Given the description of an element on the screen output the (x, y) to click on. 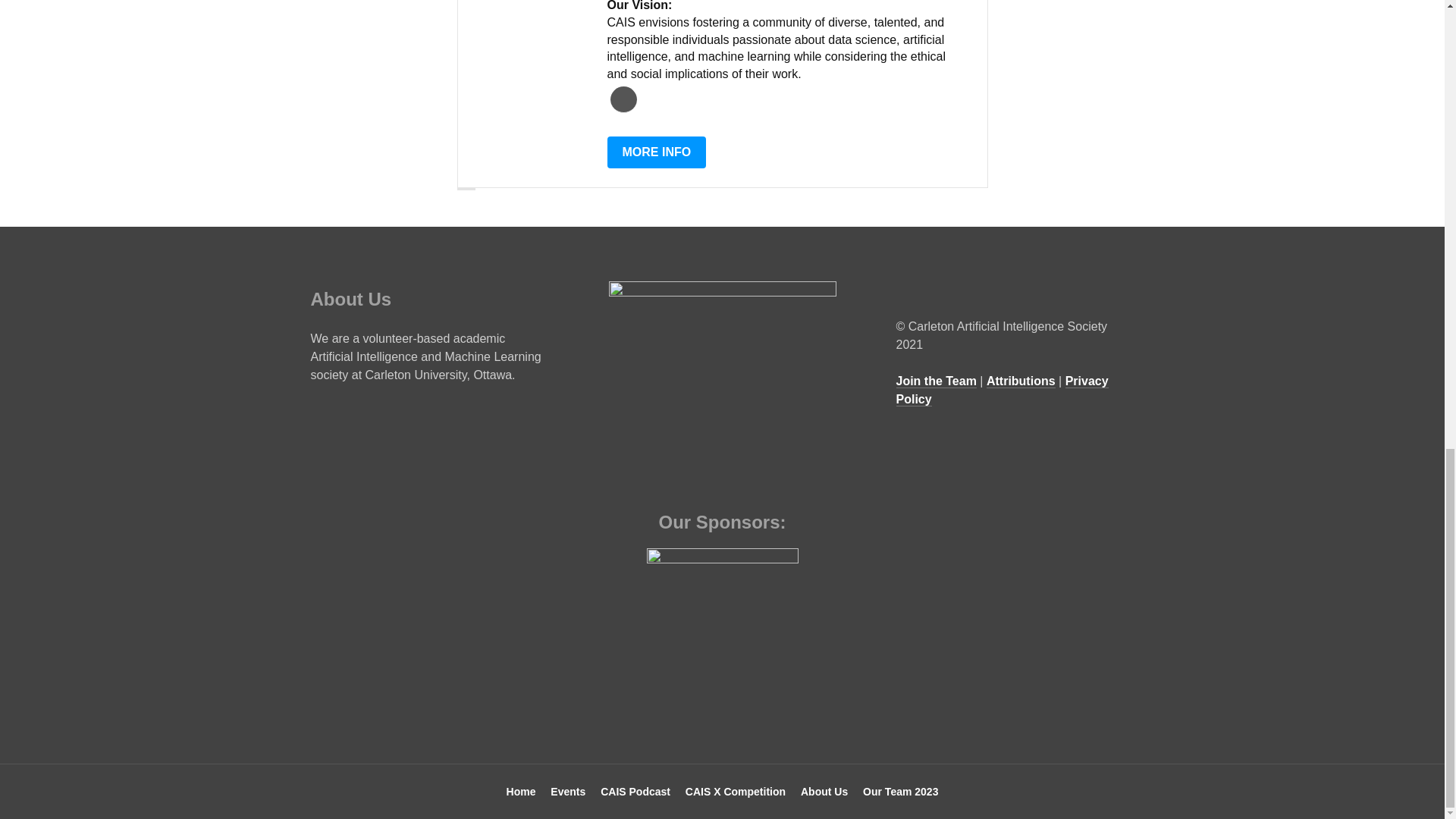
Get Connect on Website (623, 99)
Website (623, 99)
Home (520, 792)
MORE INFO (656, 152)
Privacy Policy (1002, 390)
Attributions (1021, 381)
CAIS X Competition (735, 792)
About Us (823, 792)
CAIS Podcast (634, 792)
Join the Team (936, 381)
